Given the description of an element on the screen output the (x, y) to click on. 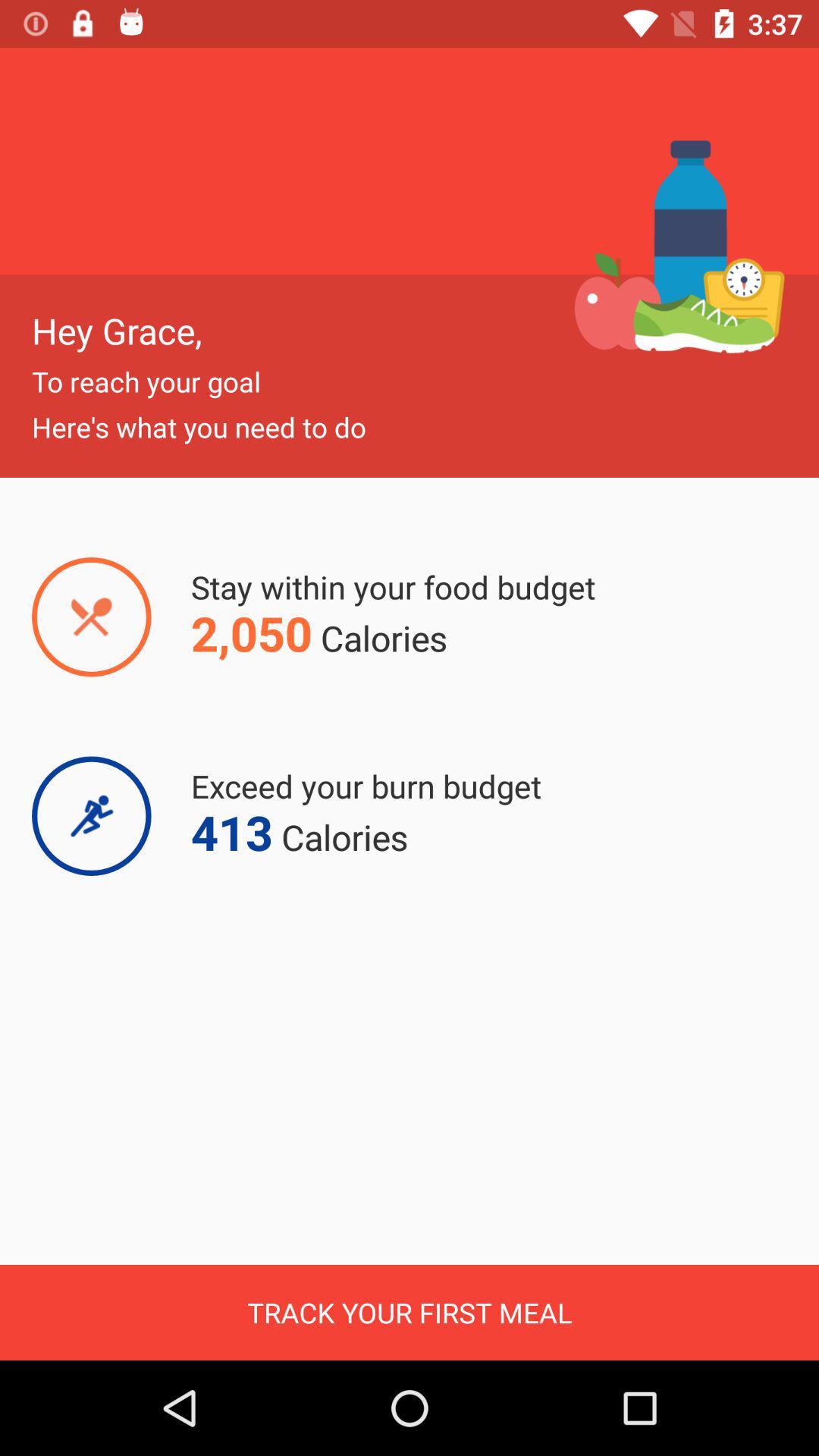
swipe to track your first item (409, 1312)
